Given the description of an element on the screen output the (x, y) to click on. 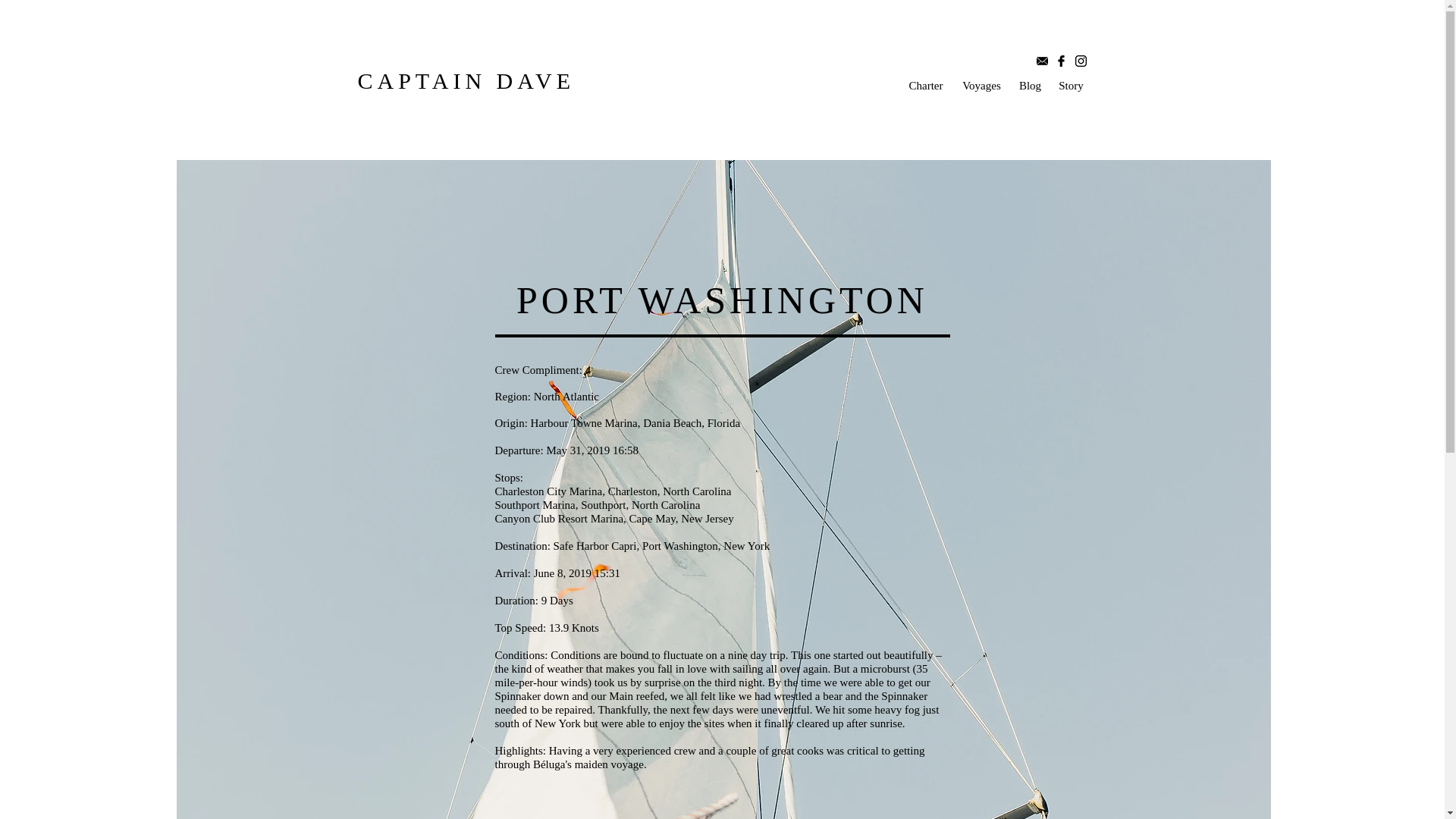
Story (1070, 84)
CAPTAIN DAVE (466, 80)
Blog (1030, 84)
Charter (925, 84)
Voyages (981, 84)
